Given the description of an element on the screen output the (x, y) to click on. 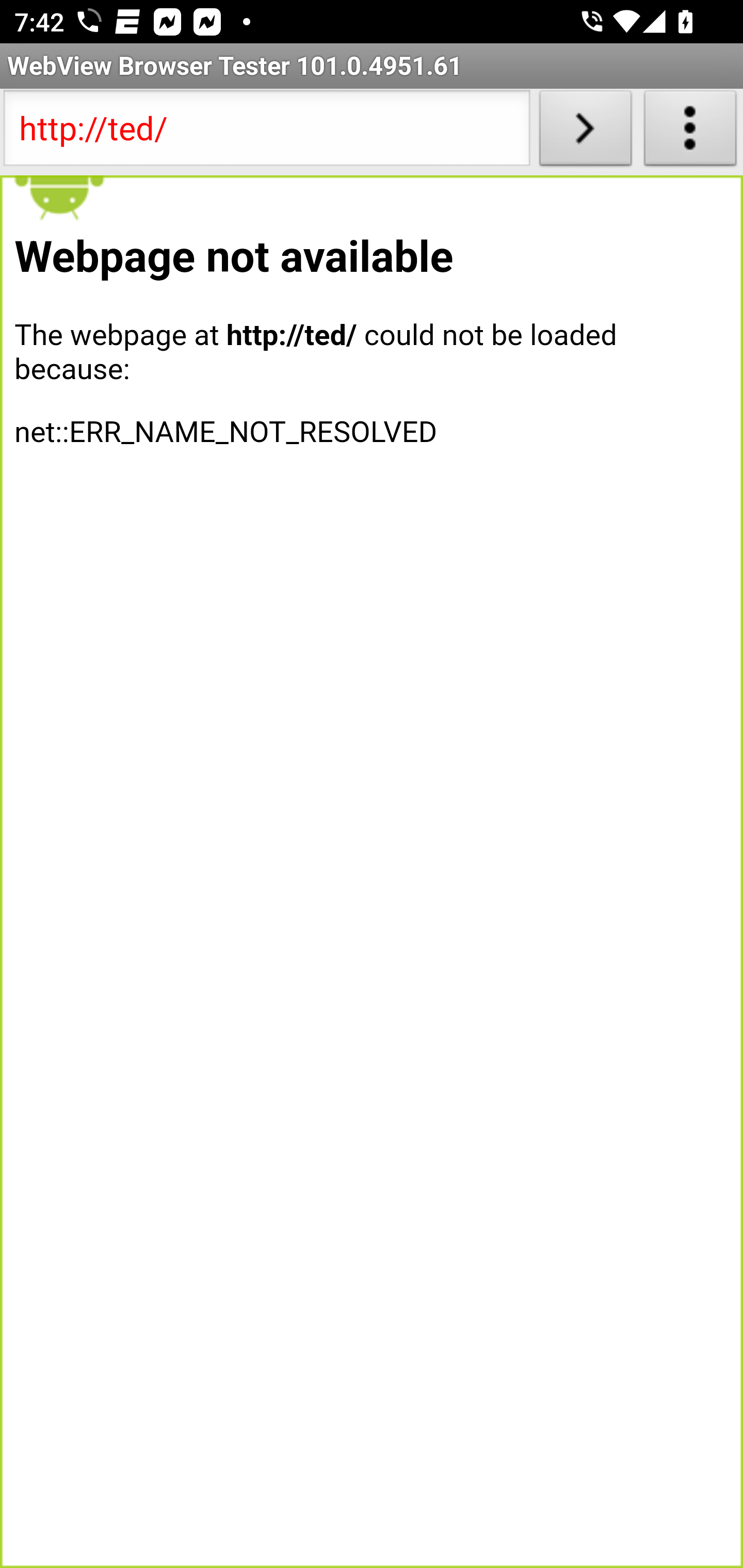
http://ted/ (266, 132)
Load URL (585, 132)
About WebView (690, 132)
